Given the description of an element on the screen output the (x, y) to click on. 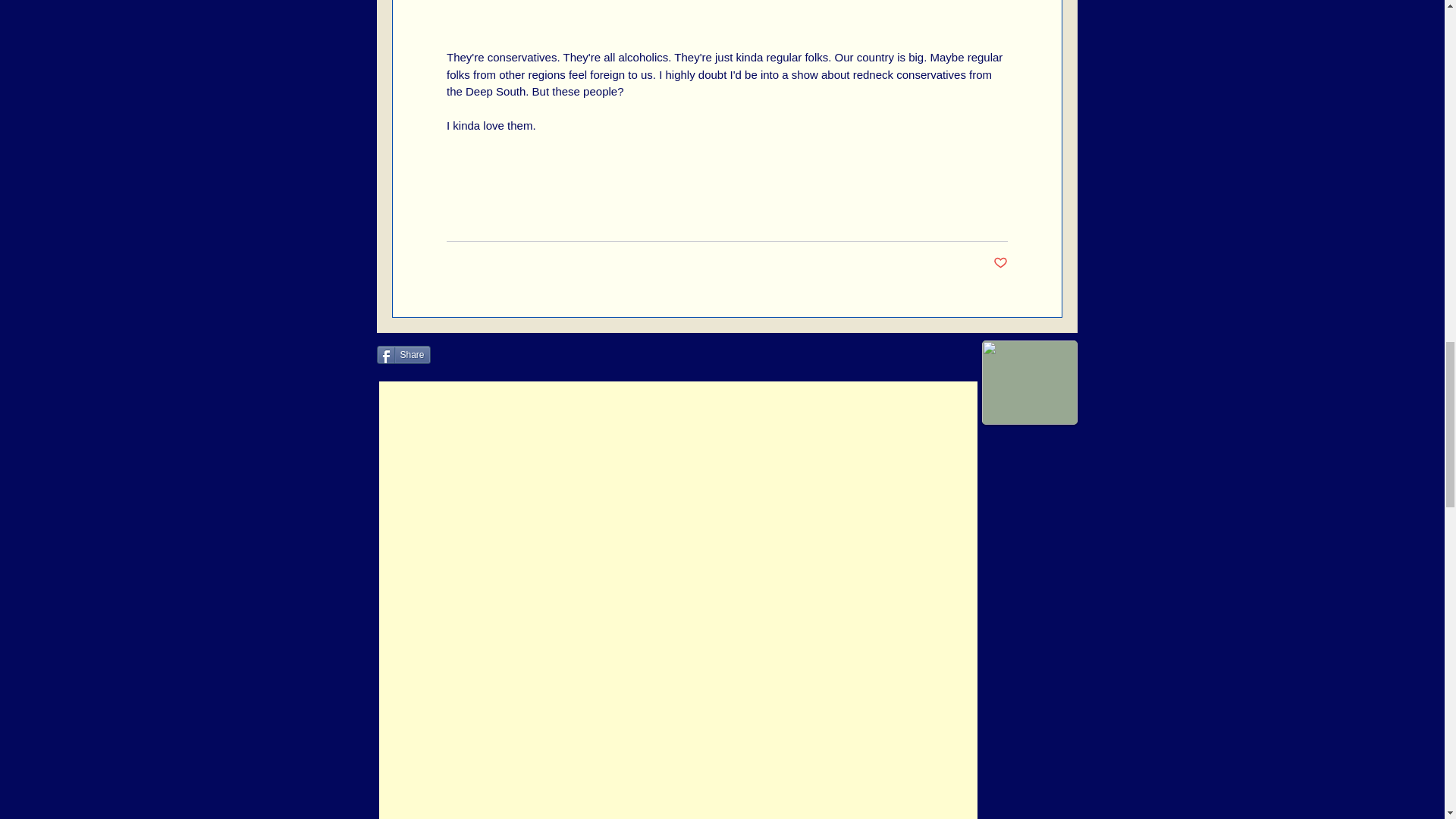
Share (402, 354)
Post not marked as liked (999, 263)
Share (402, 354)
Twitter Tweet (465, 354)
